Given the description of an element on the screen output the (x, y) to click on. 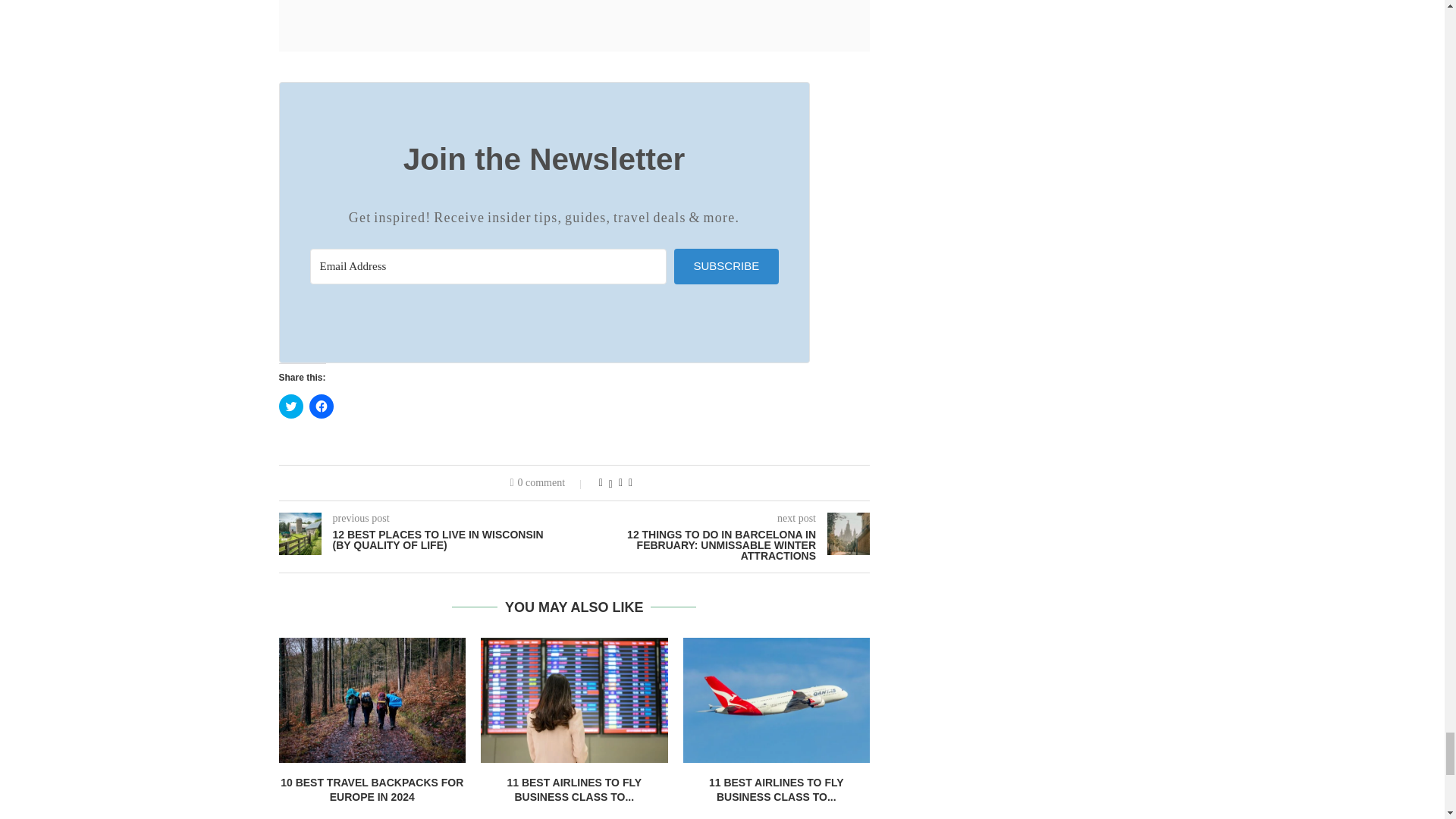
Click to share on Facebook (320, 405)
Click to share on Twitter (290, 405)
10 Best Travel Backpacks for Europe in 2024 (372, 700)
